Given the description of an element on the screen output the (x, y) to click on. 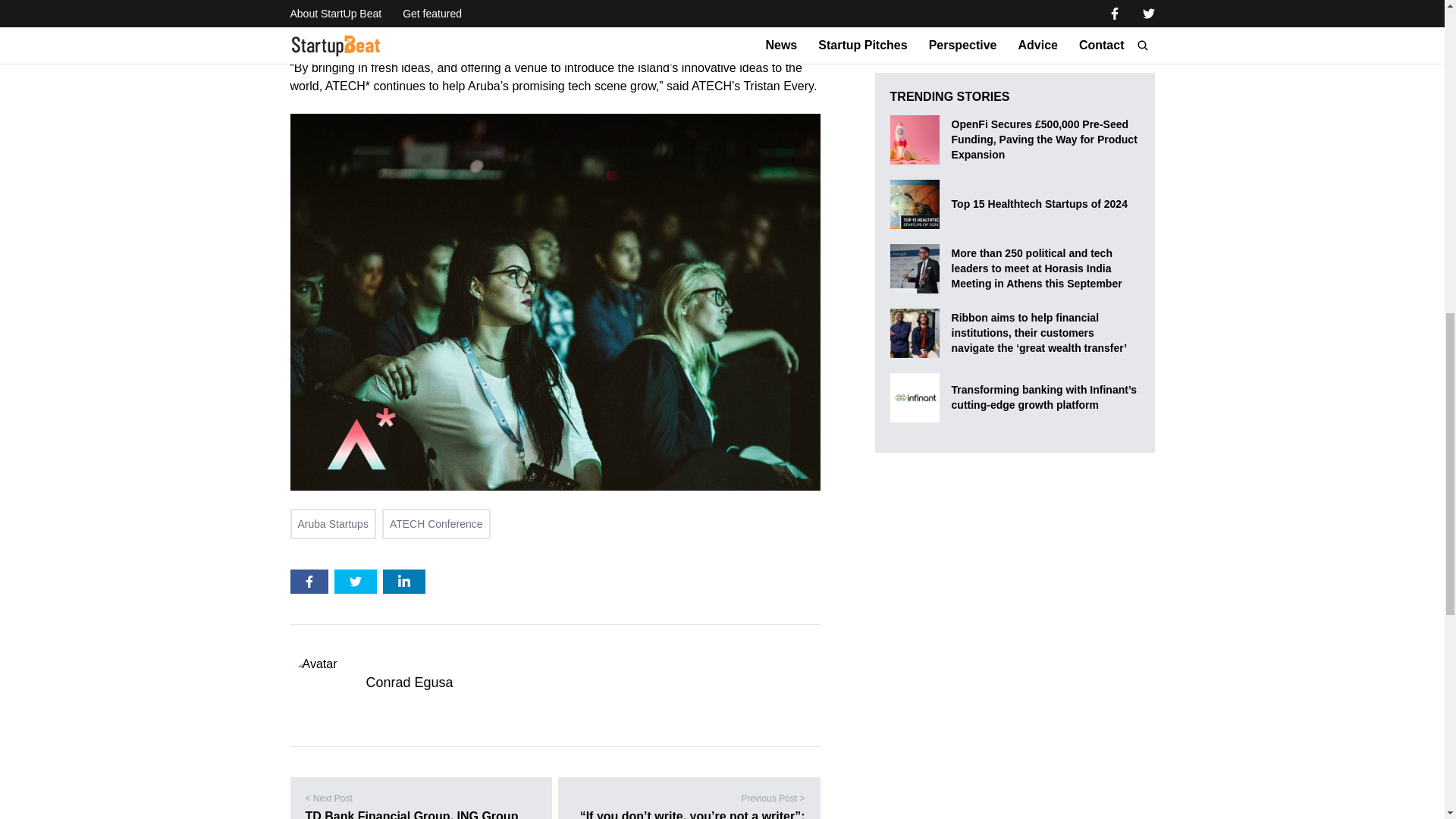
Conrad Egusa (408, 681)
ATECH Conference (435, 523)
Aruba Startups (332, 523)
